Given the description of an element on the screen output the (x, y) to click on. 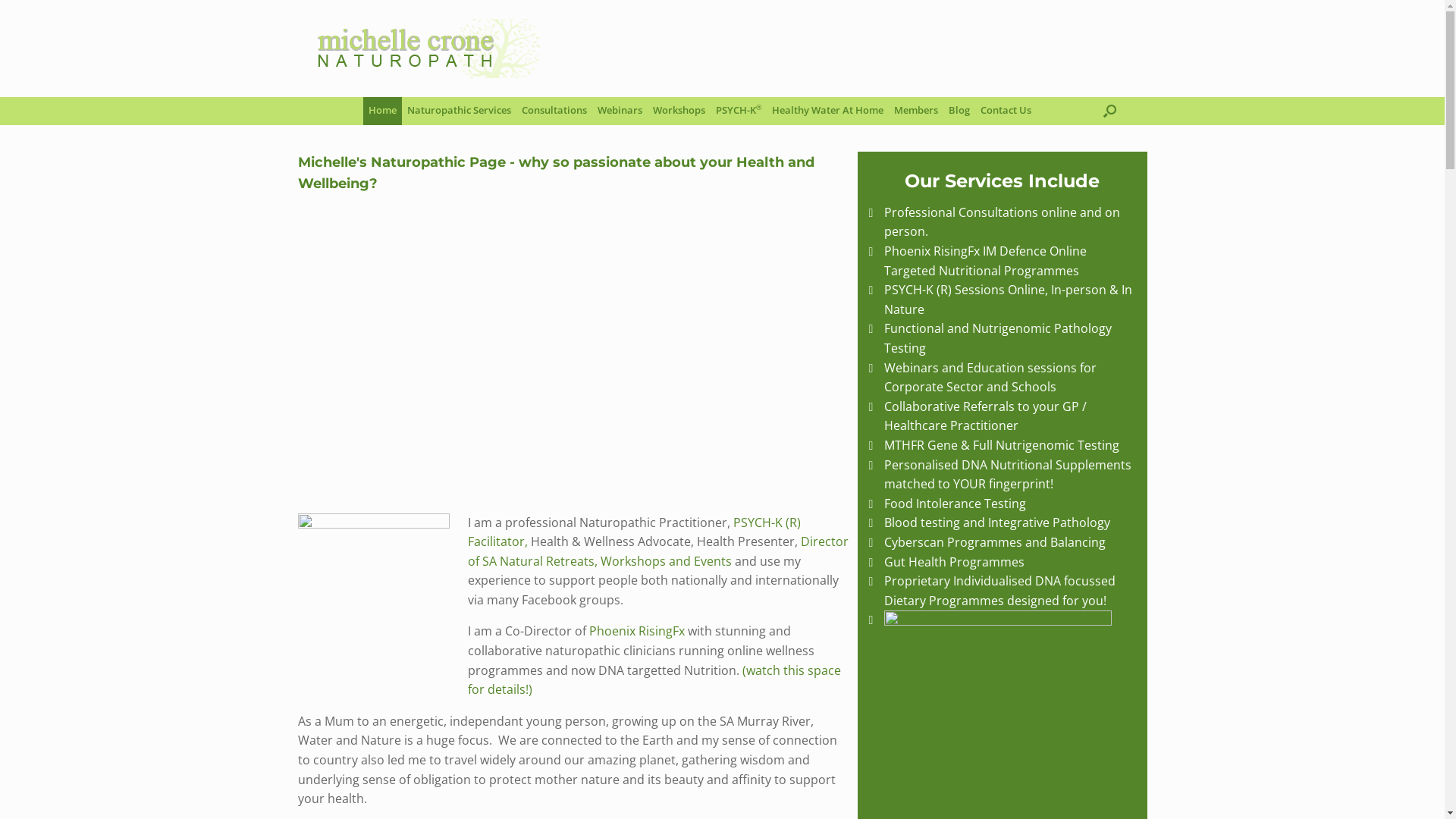
Workshops Element type: text (678, 111)
Webinars Element type: text (619, 111)
Healthy Water At Home Element type: text (827, 111)
(watch this space for details!) Element type: text (653, 680)
Naturopathic Services Element type: text (458, 111)
PSYCH-K (R) Facilitator, Element type: text (633, 532)
Director of SA Natural Retreats, Workshops and Events Element type: text (657, 551)
Phoenix RisingFx Element type: text (636, 630)
Home Element type: text (382, 111)
Members Element type: text (915, 111)
Contact Us Element type: text (1005, 111)
Consultations Element type: text (554, 111)
Blog Element type: text (959, 111)
Michelle Crone Naturopath Element type: hover (425, 48)
